Given the description of an element on the screen output the (x, y) to click on. 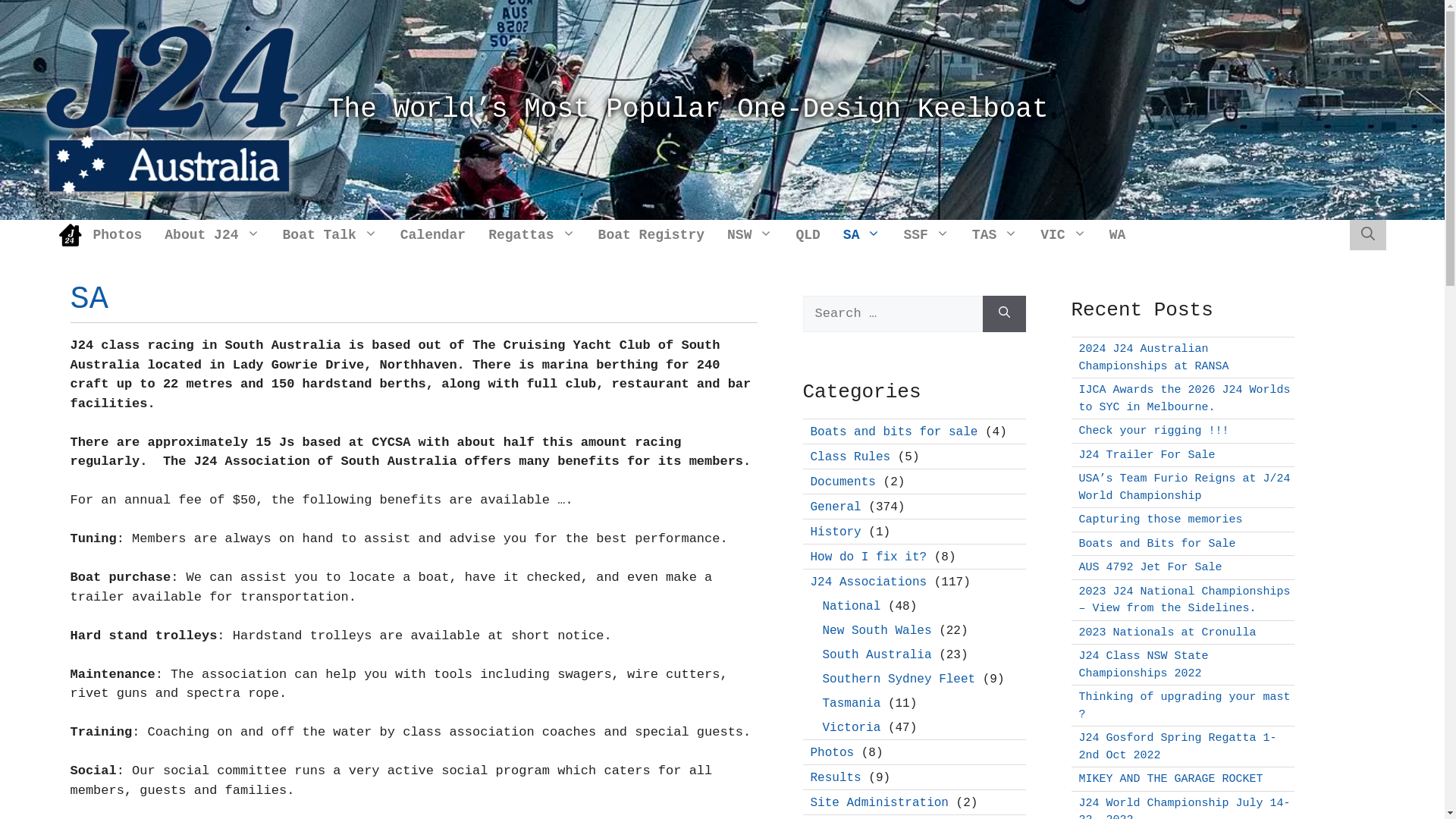
History Element type: text (834, 531)
Capturing those memories Element type: text (1160, 519)
SA Element type: text (861, 234)
Results Element type: text (834, 777)
National Element type: text (851, 605)
J24 Australia.. Element type: hover (172, 109)
Check your rigging !!! Element type: text (1153, 430)
Boat Talk Element type: text (330, 234)
WA Element type: text (1117, 234)
Tasmania Element type: text (851, 702)
AUS 4792 Jet For Sale Element type: text (1149, 567)
Home Element type: text (70, 234)
MIKEY AND THE GARAGE ROCKET Element type: text (1170, 778)
J24 Class NSW State Championships 2022 Element type: text (1143, 664)
Search for: Element type: hover (892, 313)
TAS Element type: text (994, 234)
About J24 Element type: text (211, 234)
Photos Element type: text (831, 752)
J24 Associations Element type: text (867, 581)
New South Wales Element type: text (876, 630)
Regattas Element type: text (531, 234)
2024 J24 Australian Championships at RANSA Element type: text (1153, 357)
South Australia Element type: text (876, 654)
How do I fix it? Element type: text (867, 557)
Southern Sydney Fleet Element type: text (898, 678)
Documents Element type: text (842, 481)
Calendar Element type: text (432, 234)
QLD Element type: text (807, 234)
Site Administration Element type: text (878, 802)
Boats and Bits for Sale Element type: text (1156, 542)
Boats and bits for sale Element type: text (893, 431)
J24 Gosford Spring Regatta 1-2nd Oct 2022 Element type: text (1177, 746)
VIC Element type: text (1063, 234)
IJCA Awards the 2026 J24 Worlds to SYC in Melbourne. Element type: text (1183, 398)
SSF Element type: text (925, 234)
2023 Nationals at Cronulla Element type: text (1166, 632)
Photos Element type: text (117, 234)
Thinking of upgrading your mast ? Element type: text (1183, 705)
Boat Registry Element type: text (650, 234)
Class Rules Element type: text (849, 457)
Victoria Element type: text (851, 727)
J24 Trailer For Sale Element type: text (1146, 454)
NSW Element type: text (749, 234)
General Element type: text (834, 507)
